Given the description of an element on the screen output the (x, y) to click on. 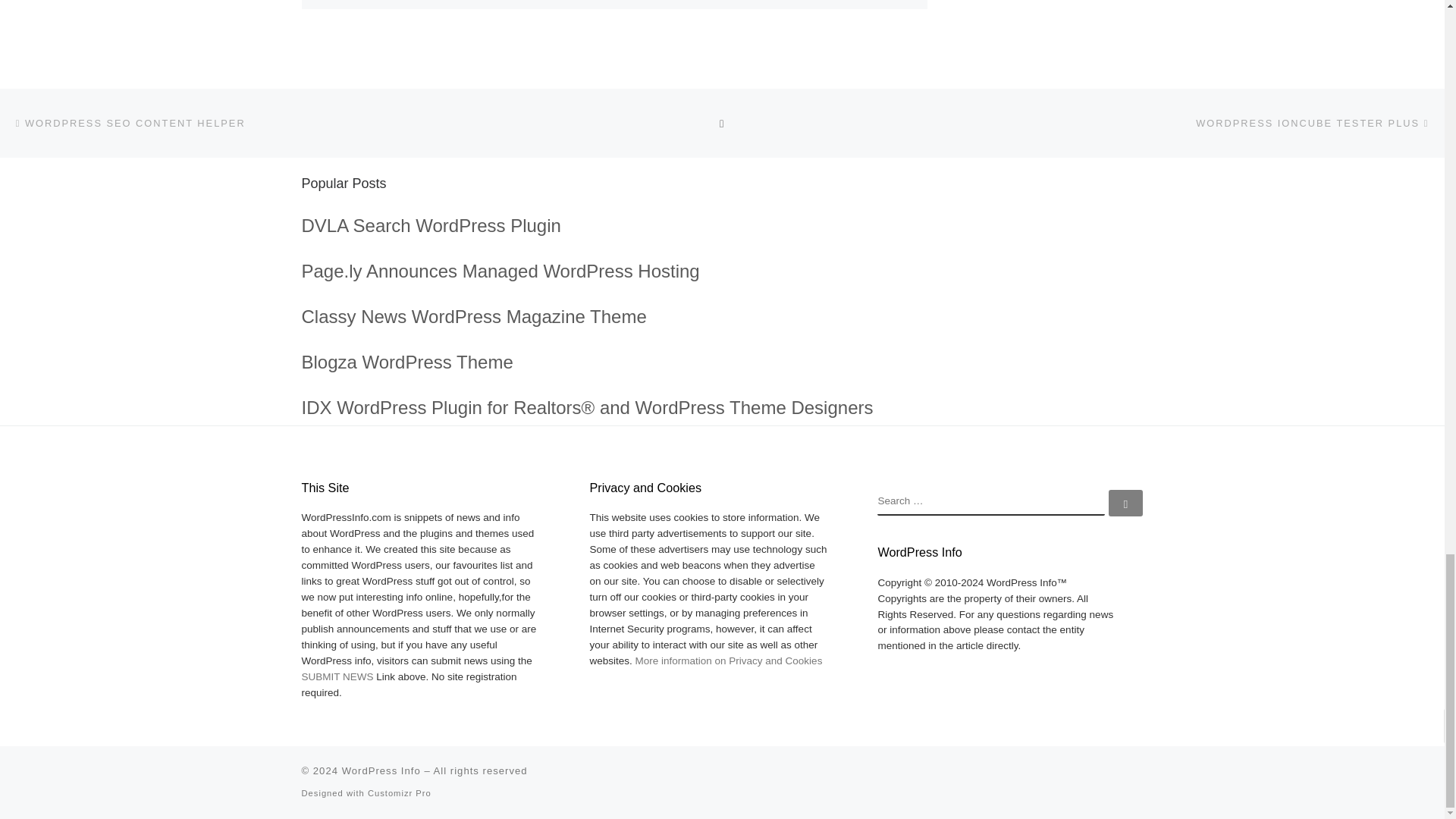
Page.ly Announces Managed WordPress Hosting (500, 271)
DVLA Search WordPress Plugin (430, 225)
Classy News WordPress Magazine Theme (473, 316)
Blogza WordPress Theme (407, 362)
WordPress Info (381, 770)
